Given the description of an element on the screen output the (x, y) to click on. 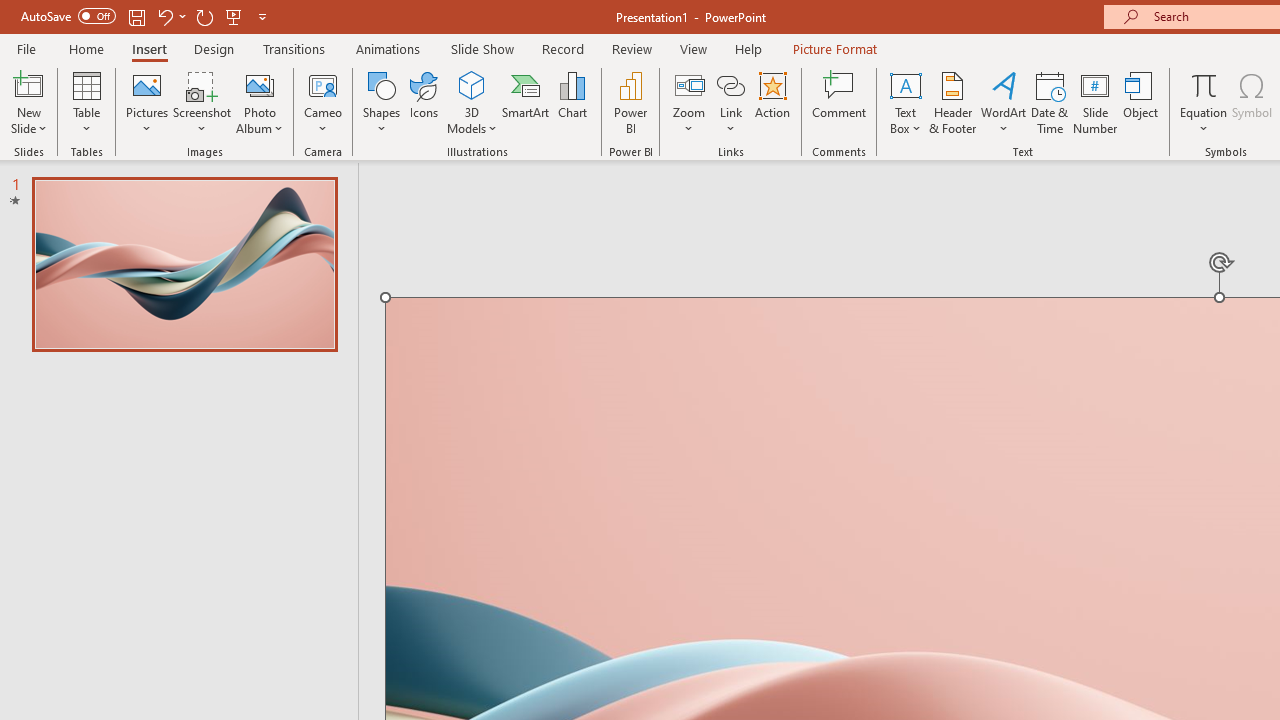
Date & Time... (1050, 102)
Object... (1141, 102)
Header & Footer... (952, 102)
Screenshot (202, 102)
WordArt (1004, 102)
